Given the description of an element on the screen output the (x, y) to click on. 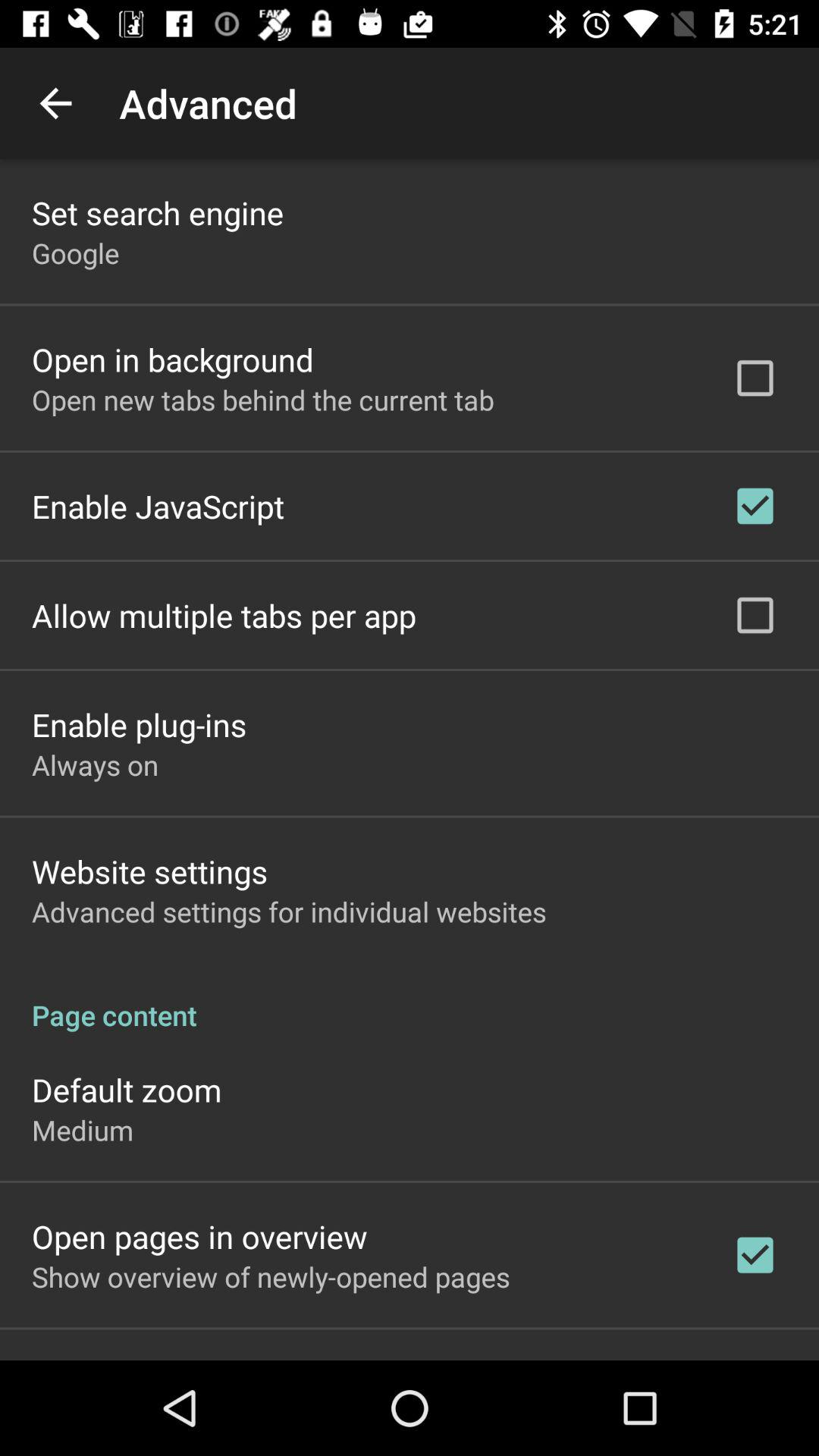
flip to the page content item (409, 998)
